Given the description of an element on the screen output the (x, y) to click on. 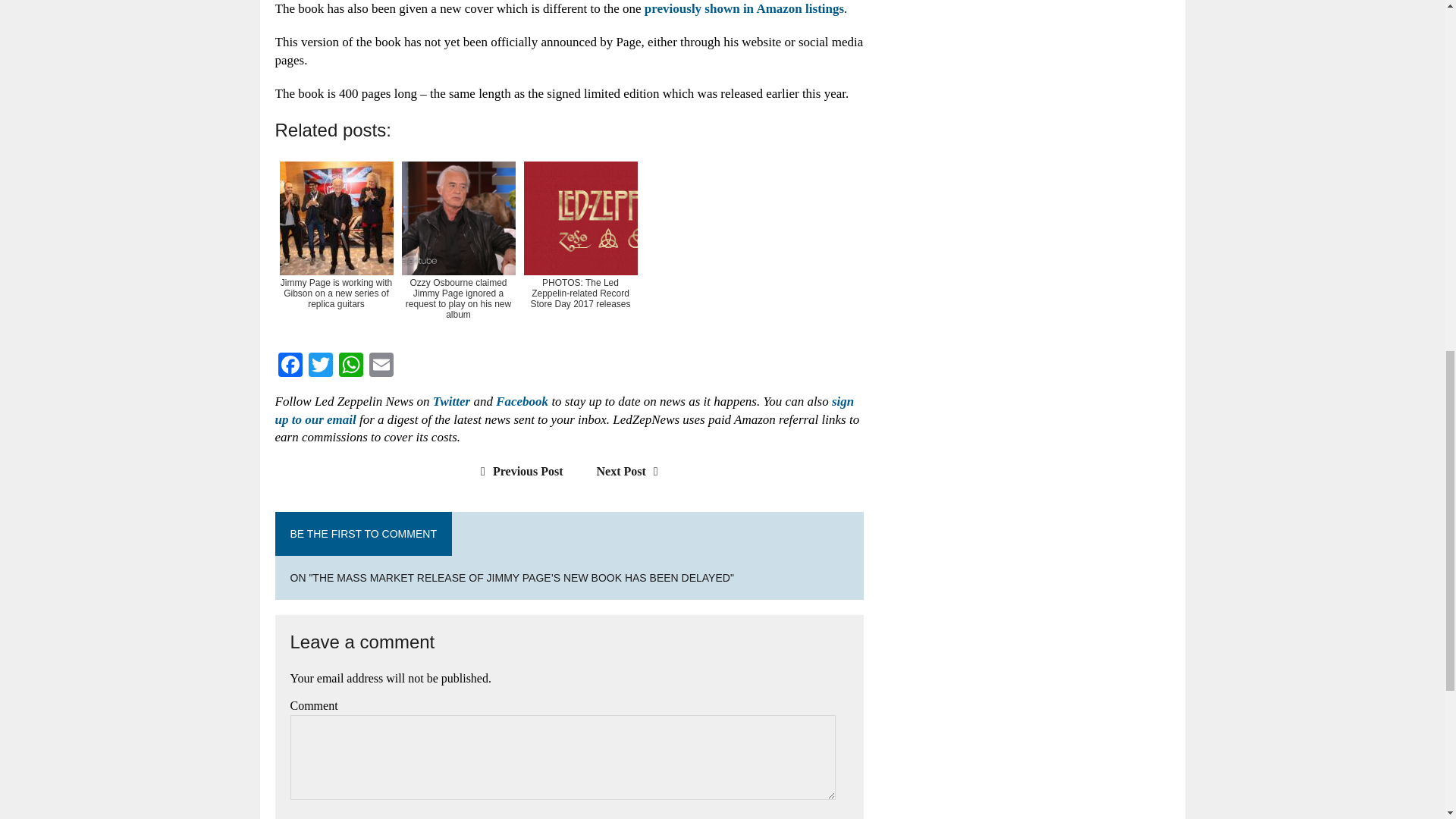
Twitter (319, 366)
Facebook (289, 366)
sign up to our email (564, 409)
Email (380, 366)
Twitter (451, 400)
Facebook (289, 366)
Email (380, 366)
Next Post (630, 471)
WhatsApp (349, 366)
WhatsApp (349, 366)
